Given the description of an element on the screen output the (x, y) to click on. 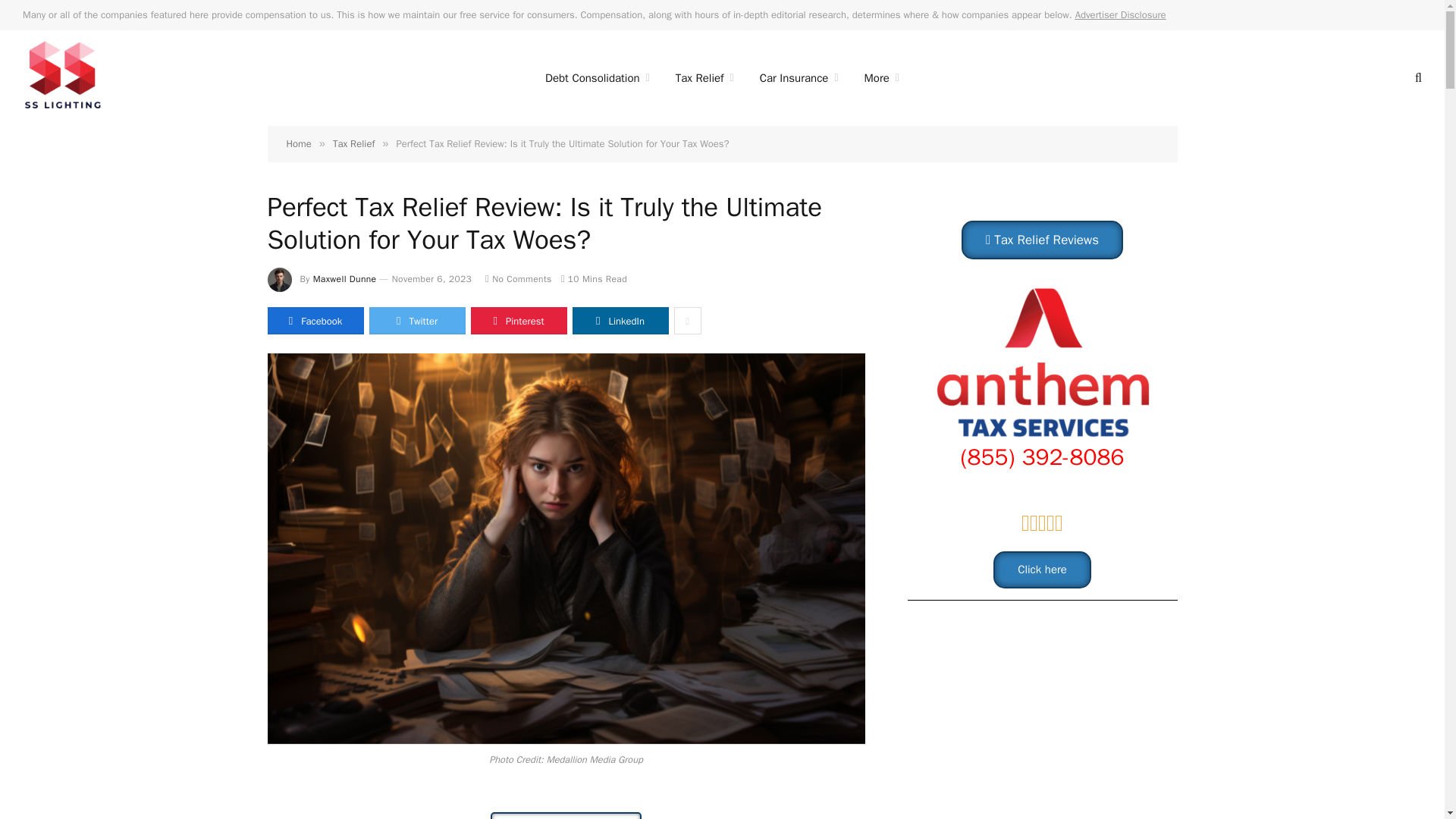
Advertiser Disclosure (1120, 14)
Car Insurance (798, 78)
Share on Pinterest (518, 320)
SS Lighting (63, 78)
Debt Consolidation (597, 78)
Search (1417, 77)
More (881, 78)
Posts by Maxwell Dunne (345, 278)
Tax Relief (704, 78)
Share on Facebook (314, 320)
Share on LinkedIn (620, 320)
Show More Social Sharing (686, 320)
